Given the description of an element on the screen output the (x, y) to click on. 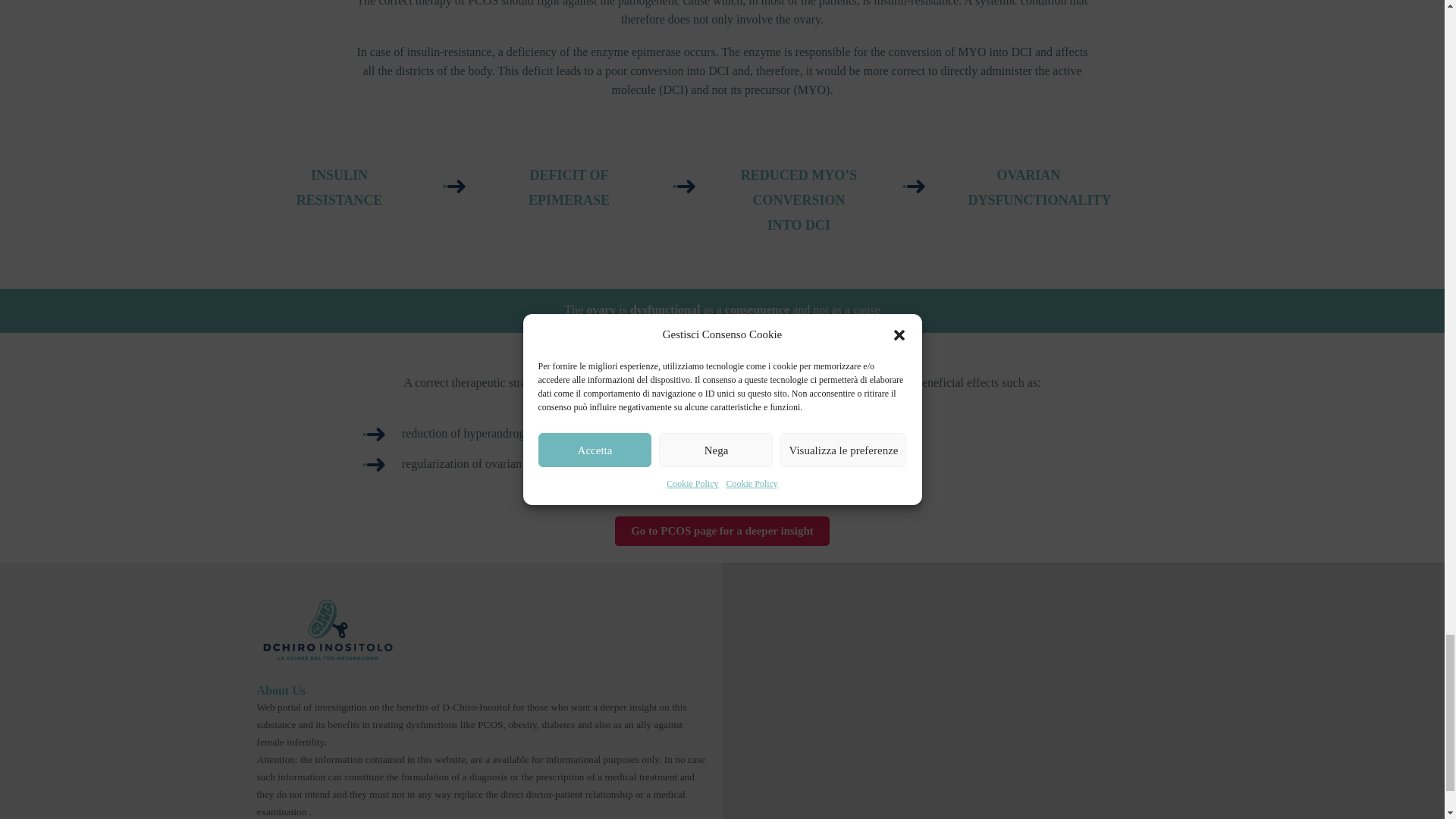
Go to PCOS page for a deeper insight (721, 531)
left-arrow (683, 185)
left-arrow (453, 185)
left-arrow (913, 185)
logo-186 (326, 628)
